Given the description of an element on the screen output the (x, y) to click on. 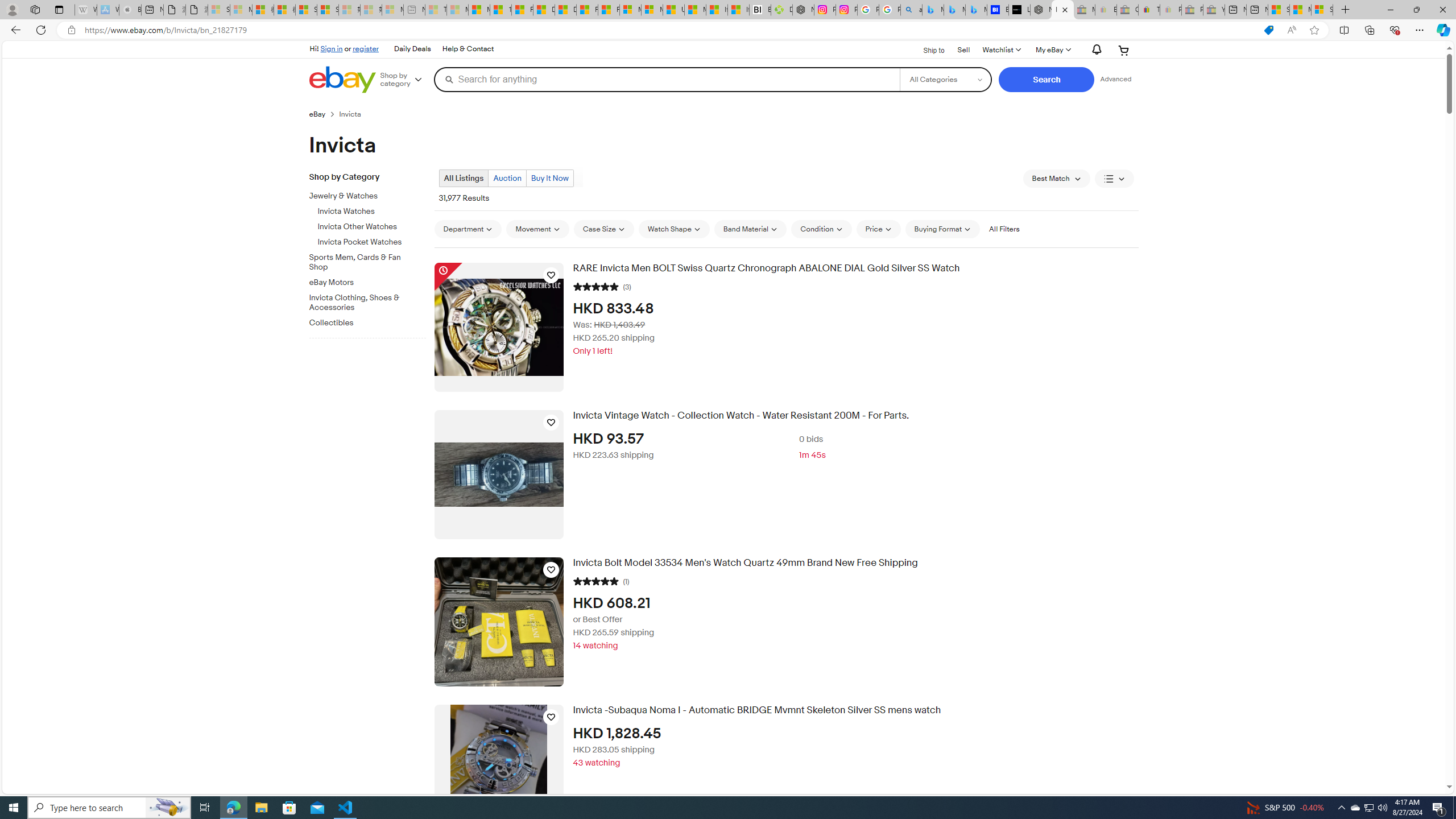
Microsoft Bing Travel - Shangri-La Hotel Bangkok (975, 9)
eBay Home (341, 79)
register (366, 48)
Foo BAR | Trusted Community Engagement and Contributions (608, 9)
Price (878, 229)
Invicta Pocket Watches (371, 242)
Band Material (750, 229)
Watch Shape (673, 229)
Invicta products for sale | eBay (1062, 9)
